Given the description of an element on the screen output the (x, y) to click on. 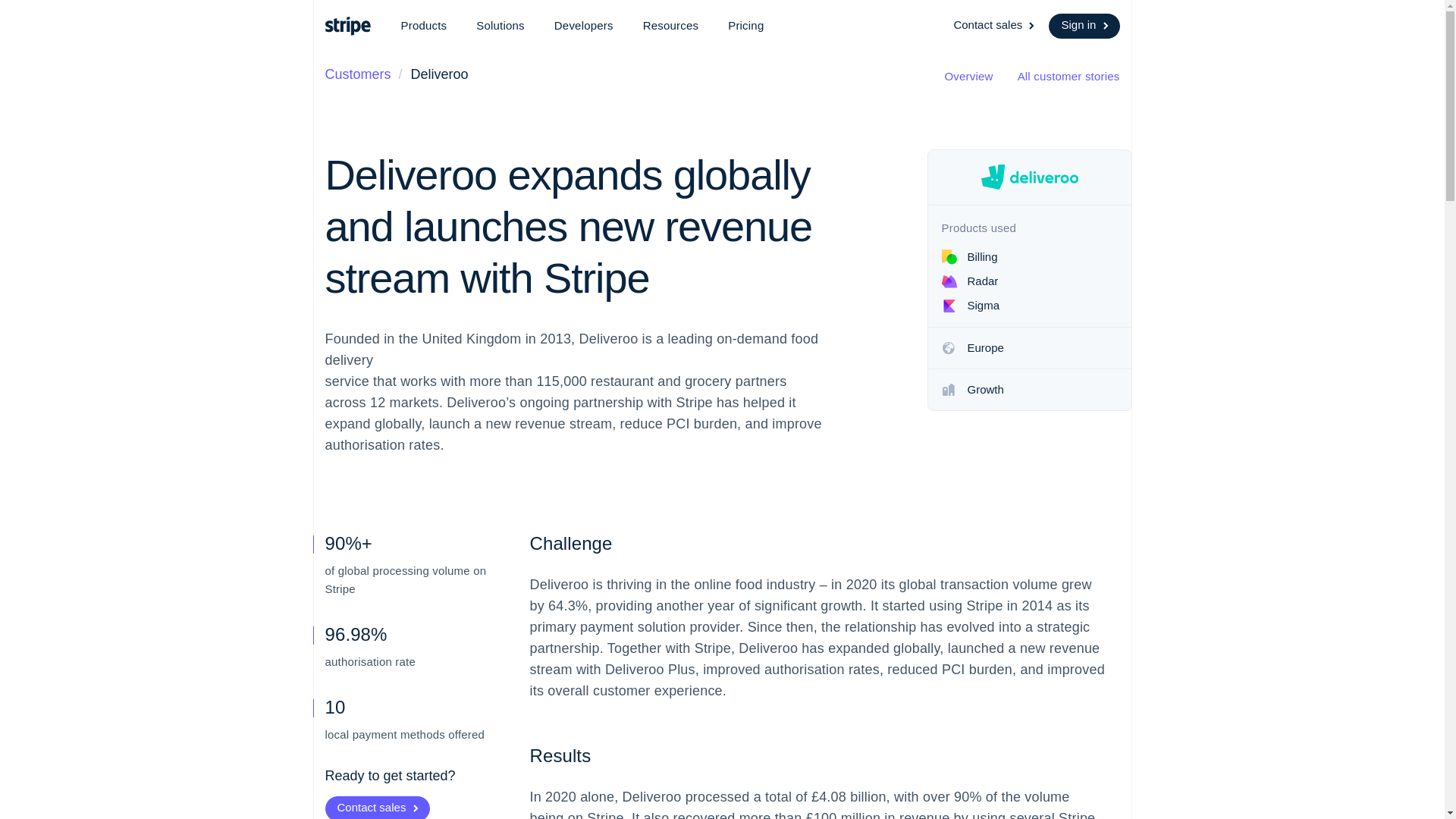
Resources (670, 25)
Solutions (500, 25)
Contact sales  (994, 25)
Pricing (745, 25)
Sign in  (1083, 25)
Products (423, 25)
Developers (583, 25)
